Given the description of an element on the screen output the (x, y) to click on. 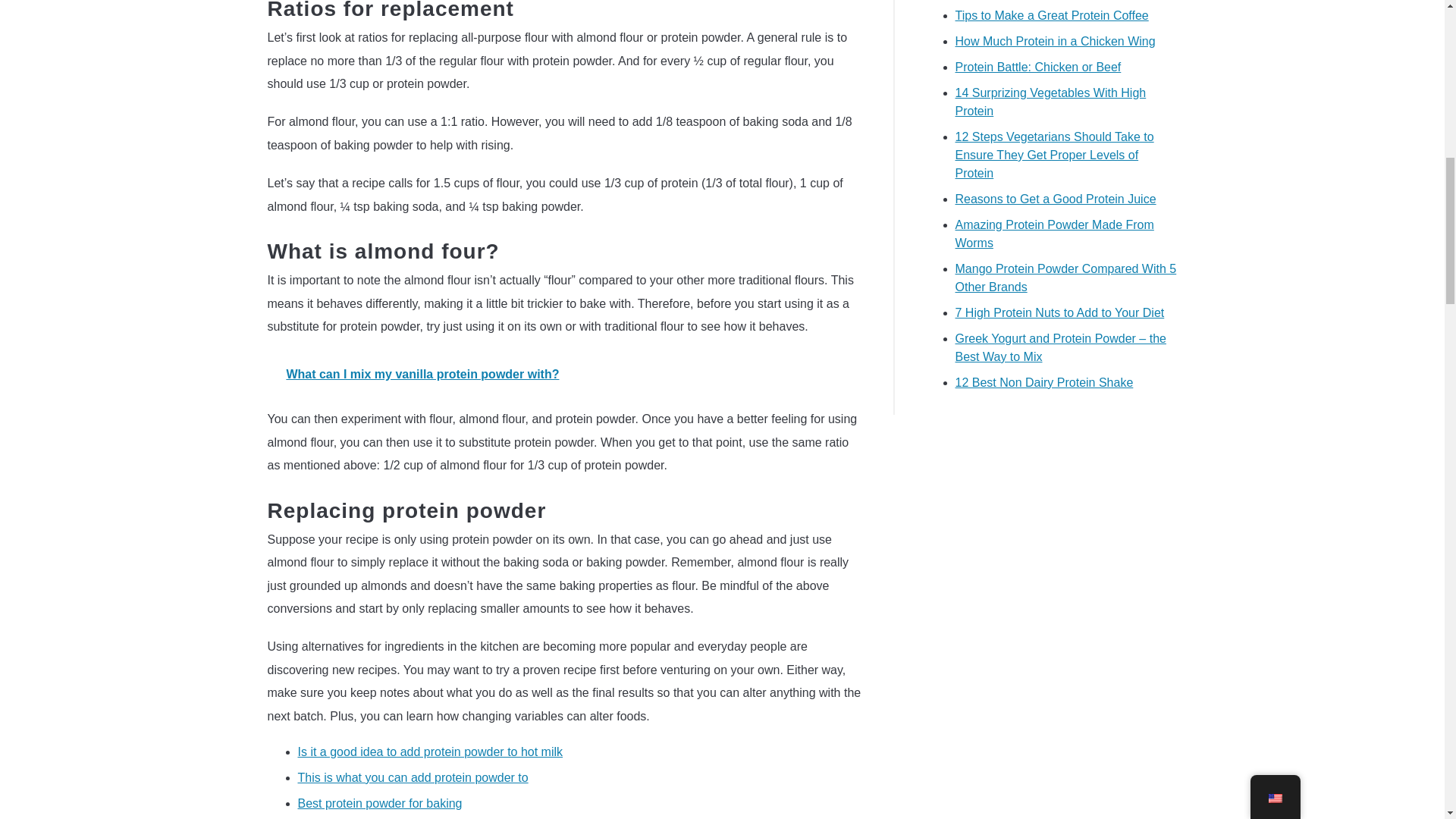
Best protein powder for baking (379, 802)
This is what you can add protein powder to (412, 777)
Is it a good idea to add protein powder to hot milk (429, 751)
  What can I mix my vanilla protein powder with? (563, 373)
